Given the description of an element on the screen output the (x, y) to click on. 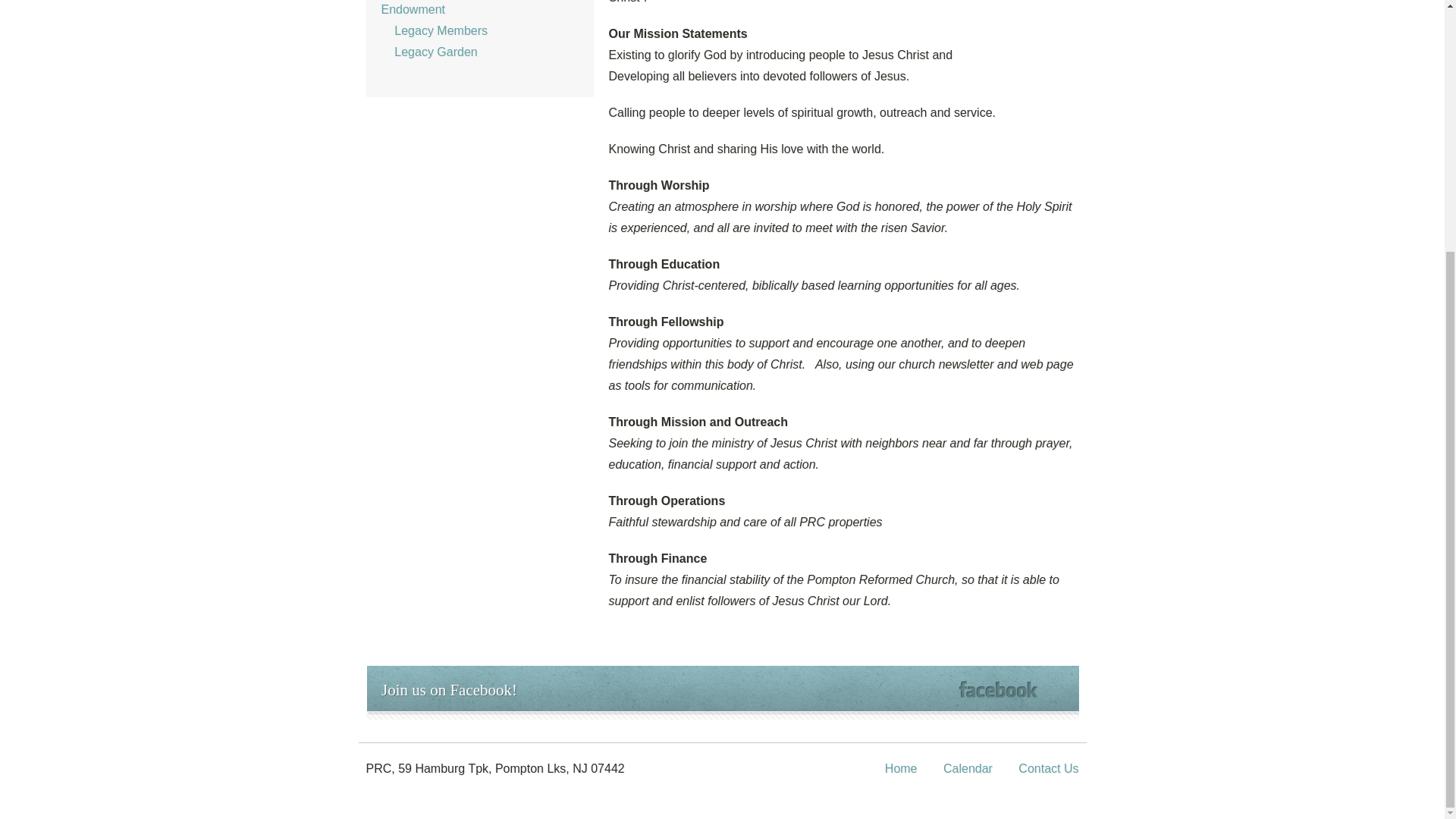
Legacy Garden (428, 51)
Calendar (967, 768)
Legacy Members (433, 30)
Endowment (412, 9)
    Legacy Garden (428, 51)
Home (901, 768)
    Legacy Members (433, 30)
Facebook (997, 689)
Contact Us (1047, 768)
Endowment (412, 9)
